Given the description of an element on the screen output the (x, y) to click on. 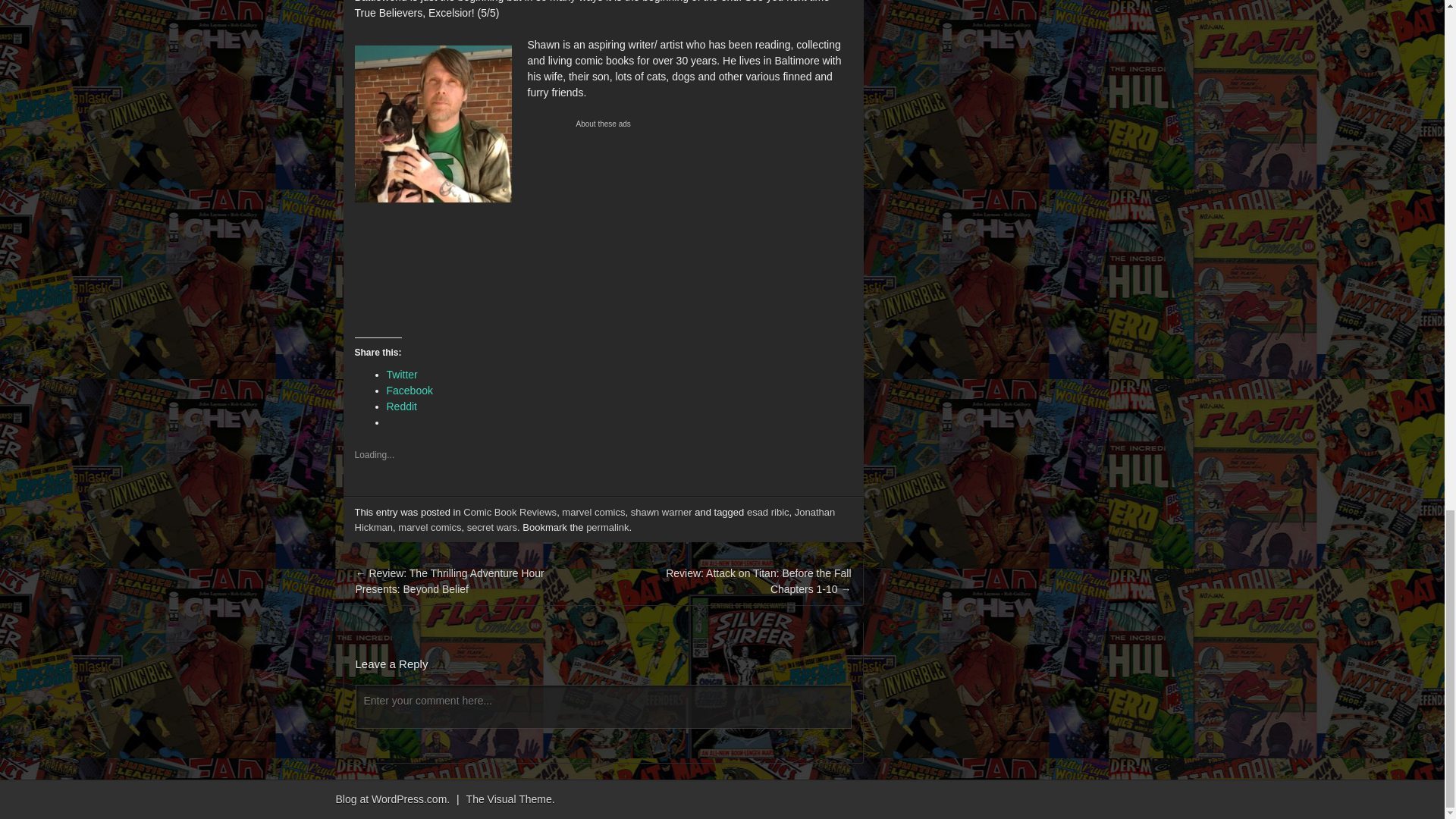
Twitter (402, 374)
marvel comics (429, 527)
marvel comics (593, 511)
esad ribic (767, 511)
About these ads (689, 123)
shawn warner (661, 511)
Click to share on Twitter (402, 374)
Enter your comment here... (603, 707)
Share on Facebook (409, 390)
